Given the description of an element on the screen output the (x, y) to click on. 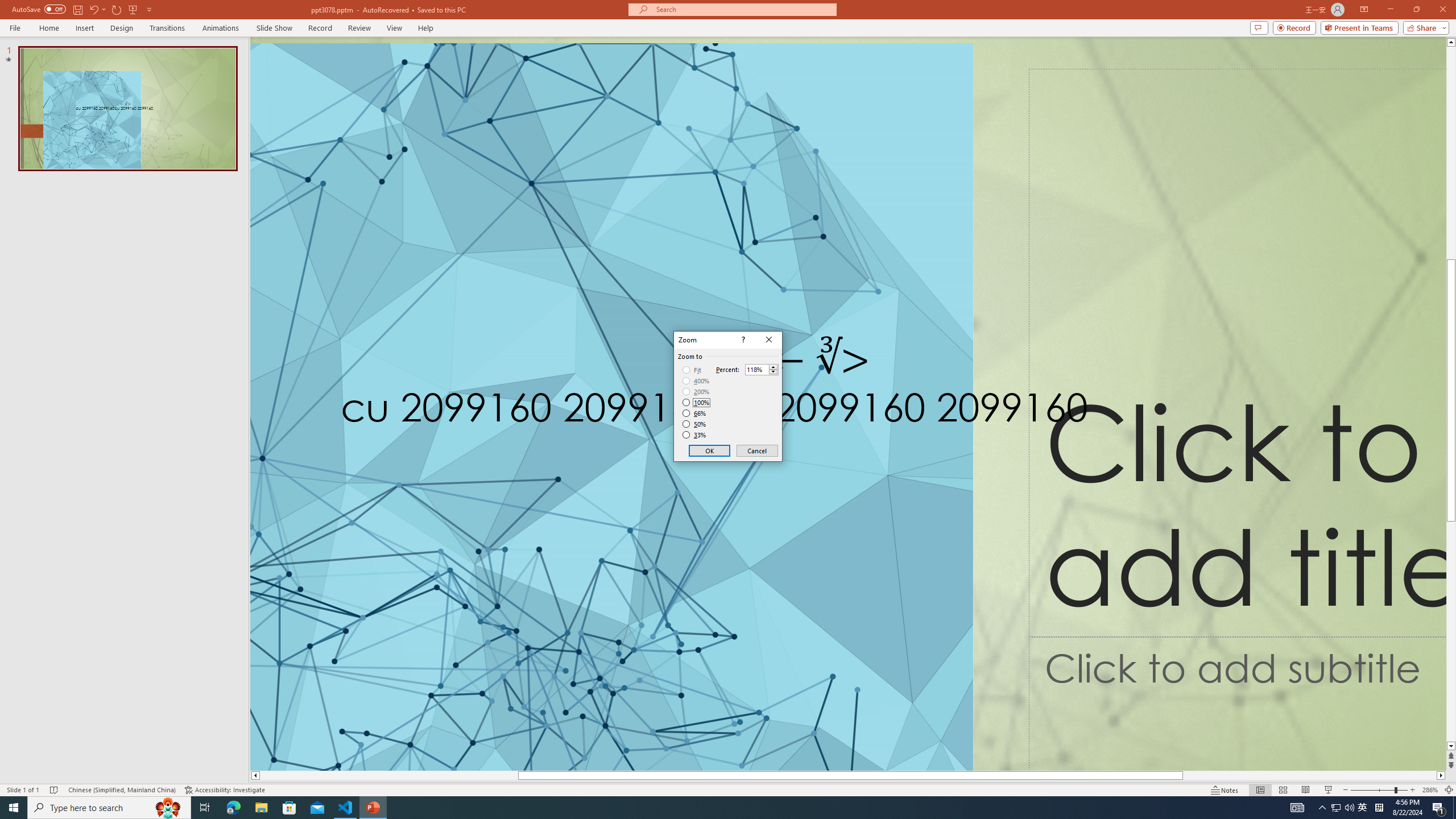
66% (694, 412)
